Given the description of an element on the screen output the (x, y) to click on. 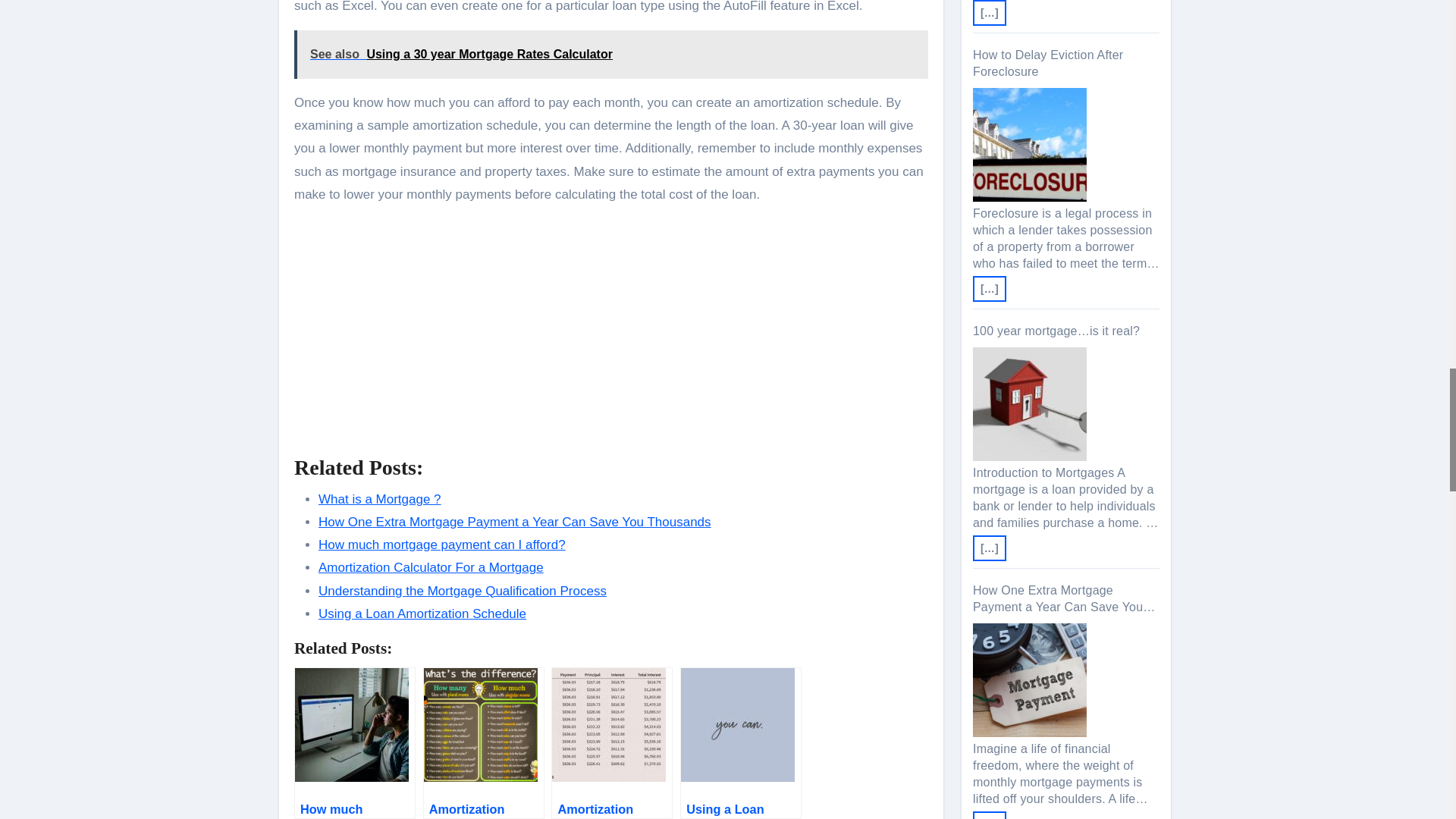
How One Extra Mortgage Payment a Year Can Save You Thousands (514, 522)
See also  Using a 30 year Mortgage Rates Calculator (611, 54)
Understanding the Mortgage Qualification Process (462, 590)
What is a Mortgage ? (379, 499)
Using a Loan Amortization Schedule (421, 613)
How much mortgage payment can I afford? (442, 544)
Amortization Calculator For a Mortgage (430, 567)
